Given the description of an element on the screen output the (x, y) to click on. 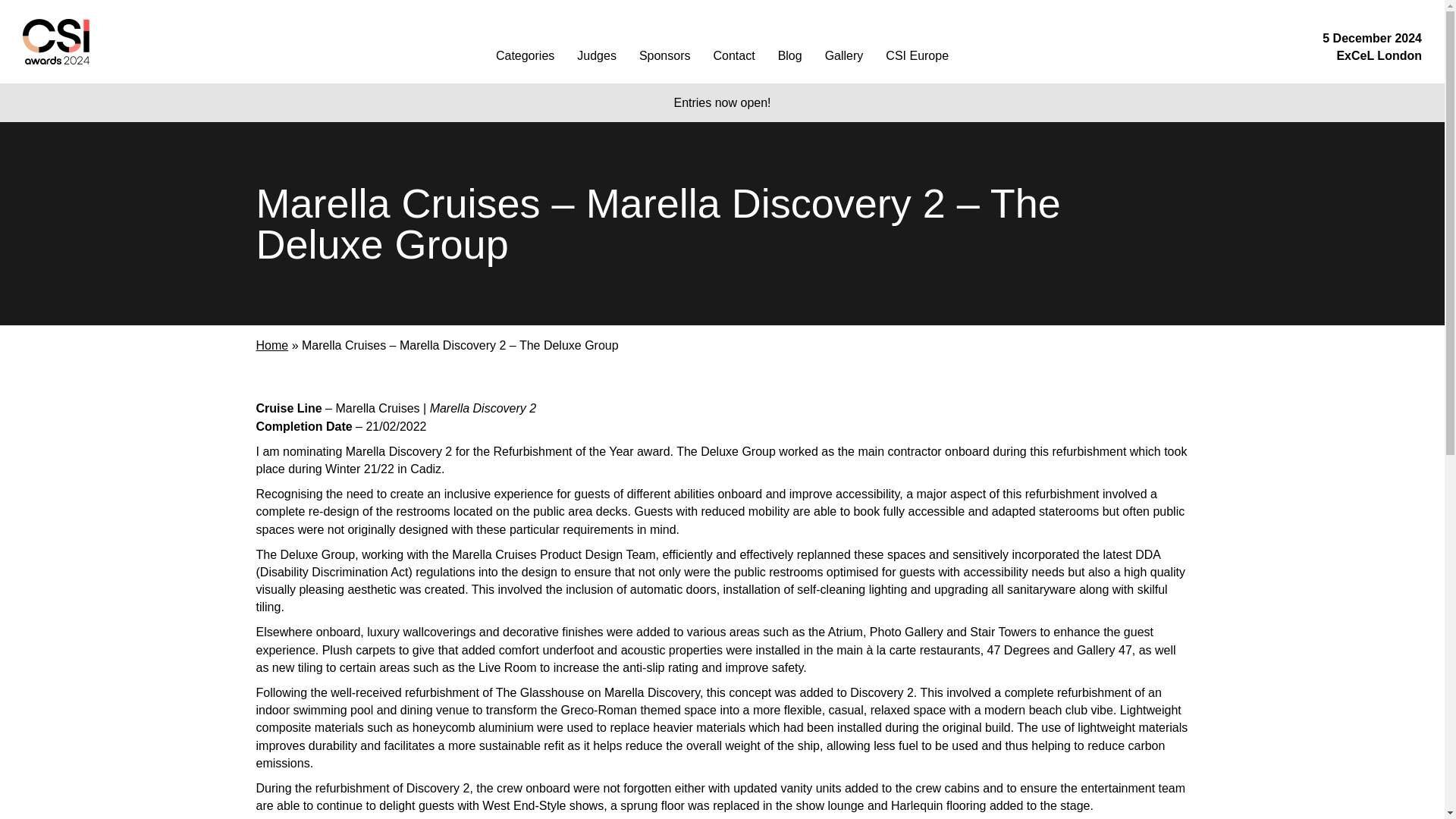
Judges (595, 55)
Categories (525, 55)
CSI Europe (917, 55)
Contact (733, 55)
Blog (789, 55)
Home (272, 345)
Sponsors (664, 55)
Gallery (844, 55)
